Given the description of an element on the screen output the (x, y) to click on. 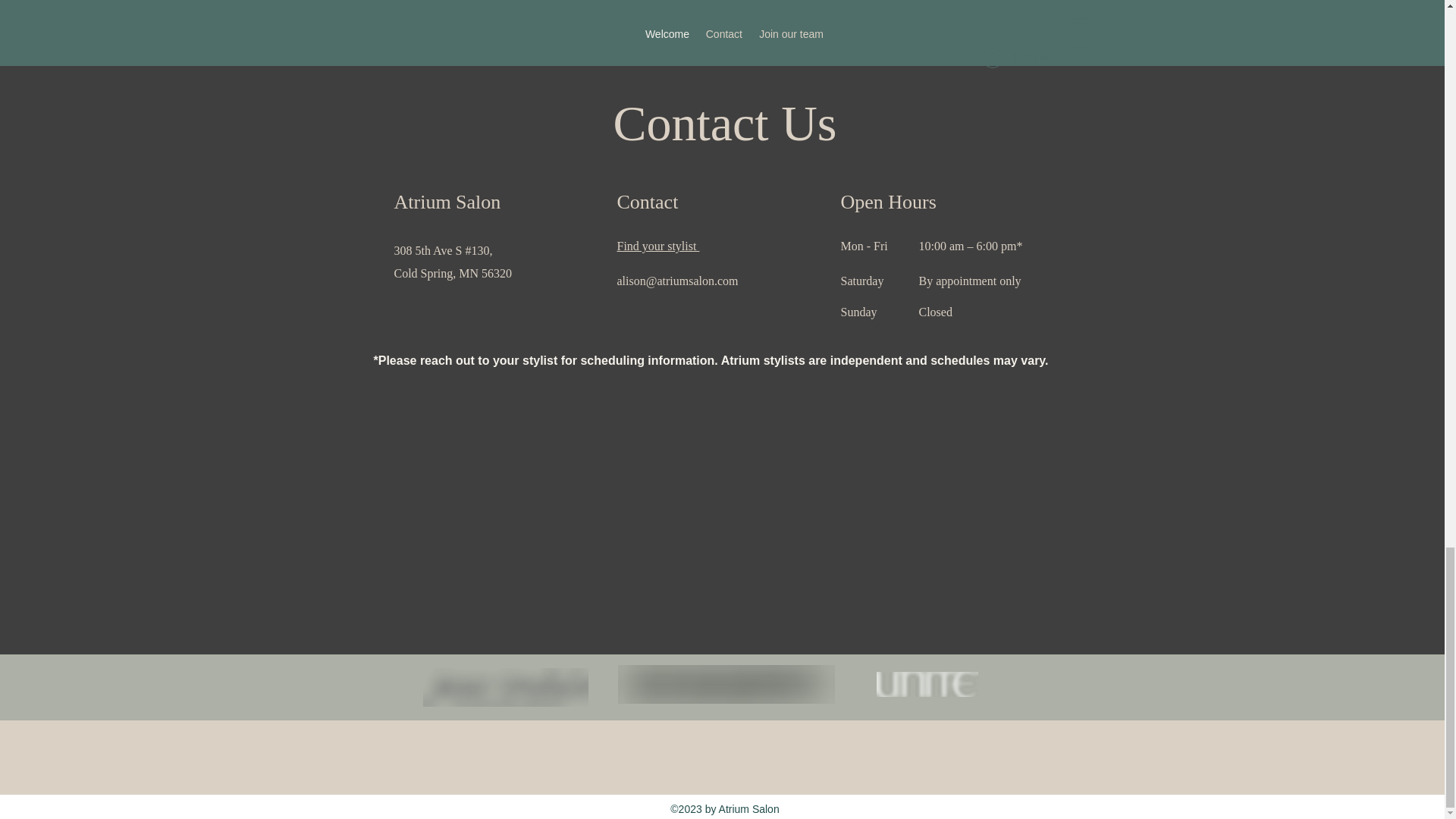
Find your stylist  (658, 245)
kevin-murphy-logo.png (725, 684)
